Given the description of an element on the screen output the (x, y) to click on. 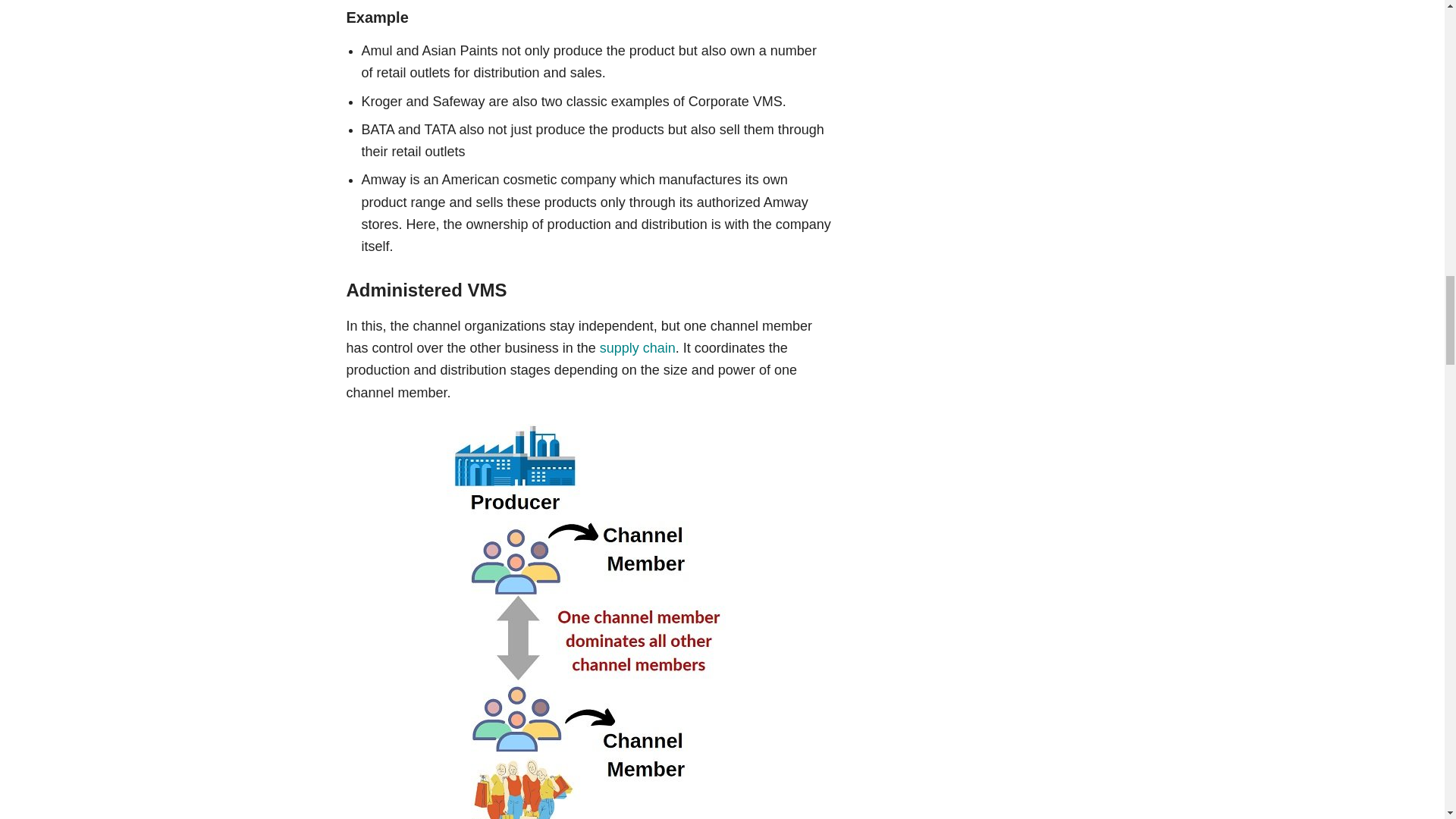
supply chain (637, 347)
